Given the description of an element on the screen output the (x, y) to click on. 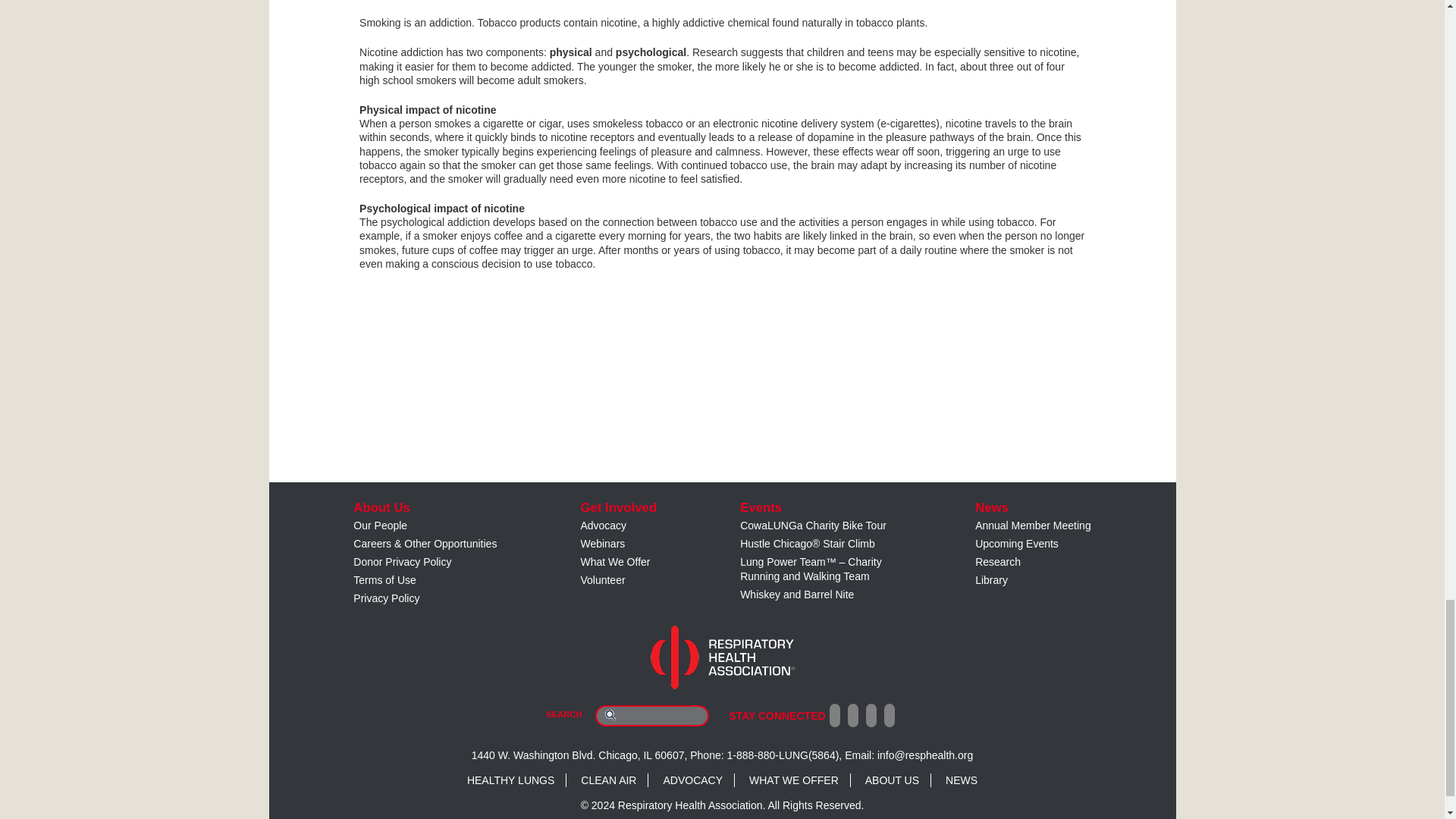
Search (609, 714)
Search (609, 714)
Search for: (652, 715)
